Given the description of an element on the screen output the (x, y) to click on. 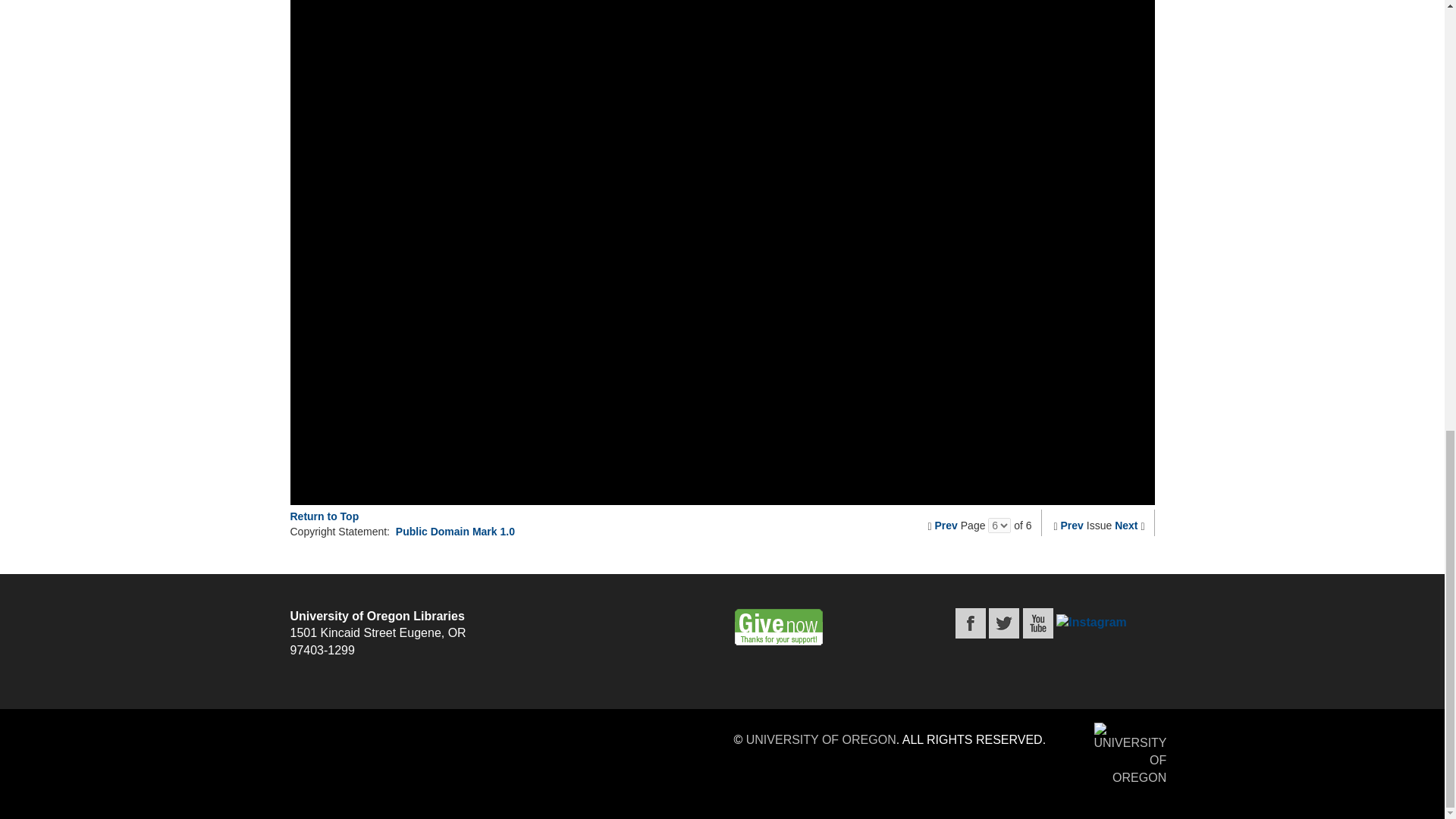
Next (1126, 525)
Public Domain Mark 1.0 (455, 531)
Prev (946, 525)
Return to Top (323, 516)
Prev (1072, 525)
